Given the description of an element on the screen output the (x, y) to click on. 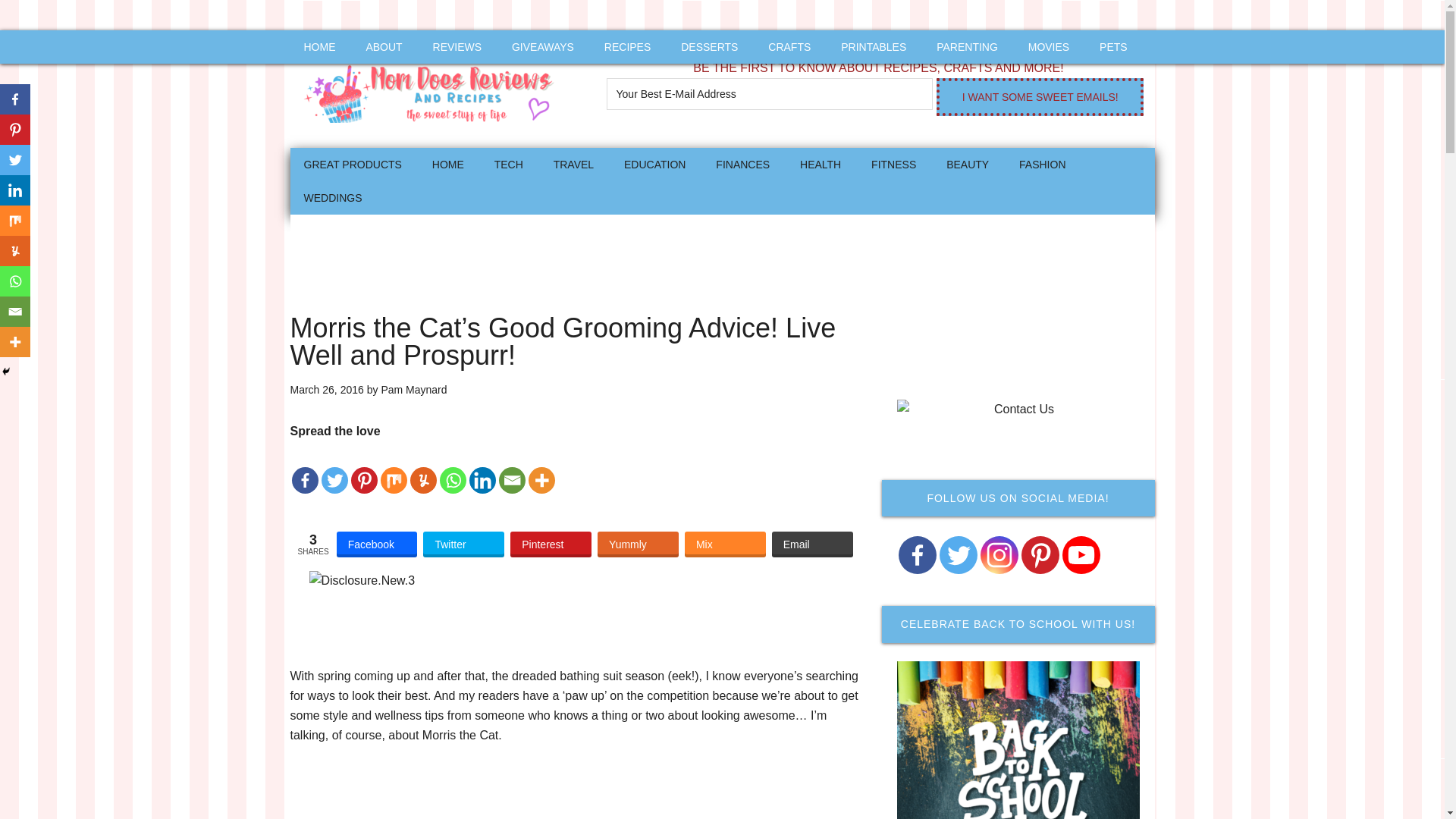
FINANCES (742, 164)
PETS (1113, 46)
GREAT PRODUCTS (351, 164)
CRAFTS (789, 46)
Pam Maynard (413, 389)
WEDDINGS (332, 197)
review (457, 46)
I want some Sweet Emails! (1039, 96)
I want some Sweet Emails! (1039, 96)
HOME (448, 164)
Facebook (376, 544)
BEAUTY (968, 164)
GIVEAWAYS (542, 46)
REVIEWS (457, 46)
FASHION (1042, 164)
